Given the description of an element on the screen output the (x, y) to click on. 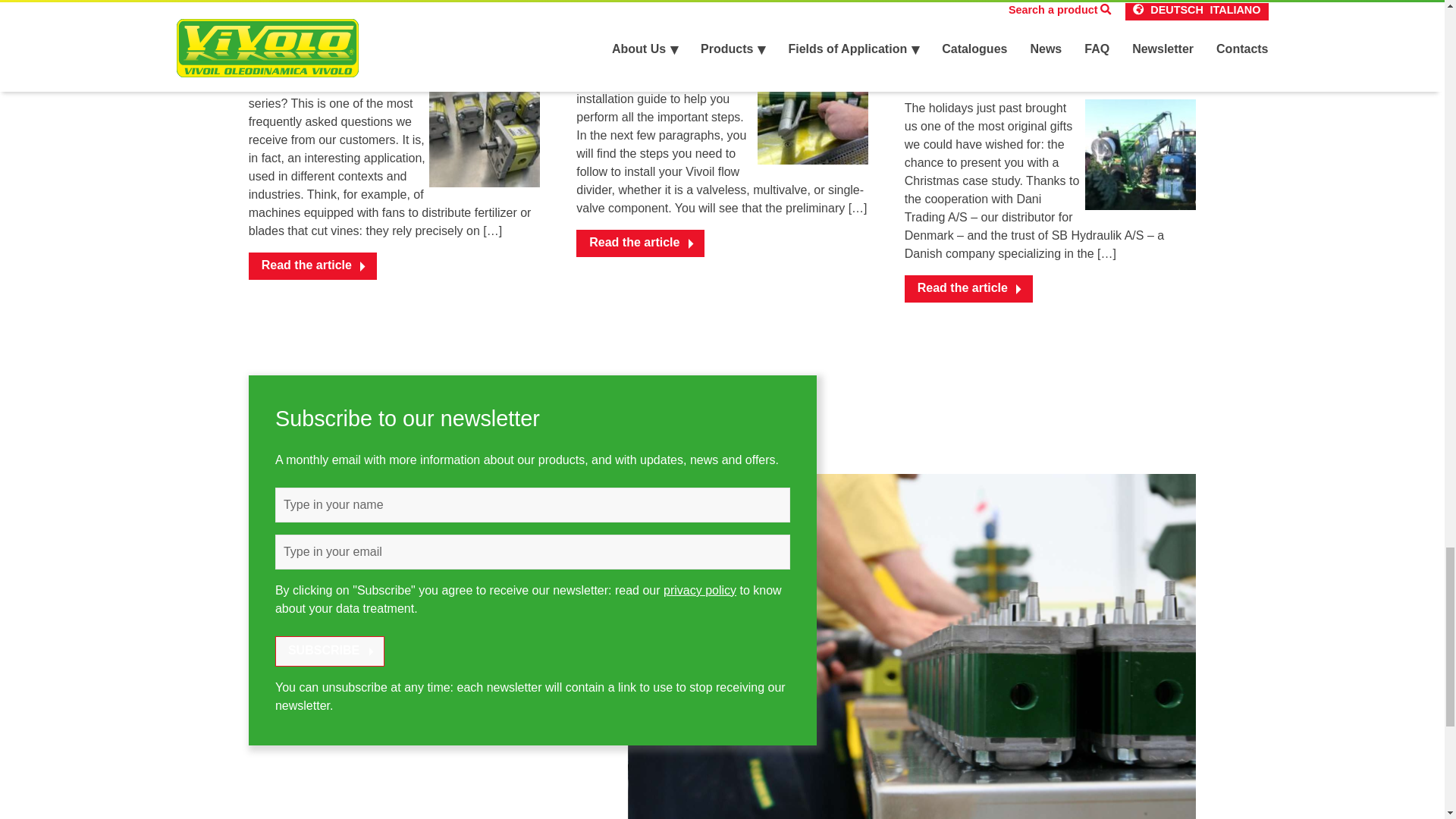
Read the article (640, 243)
Read the article (312, 266)
How to install Vivoil flow dividers (720, 31)
Read the article (968, 288)
Subscribe (329, 651)
How to use Vivoil motors in series (367, 42)
